Given the description of an element on the screen output the (x, y) to click on. 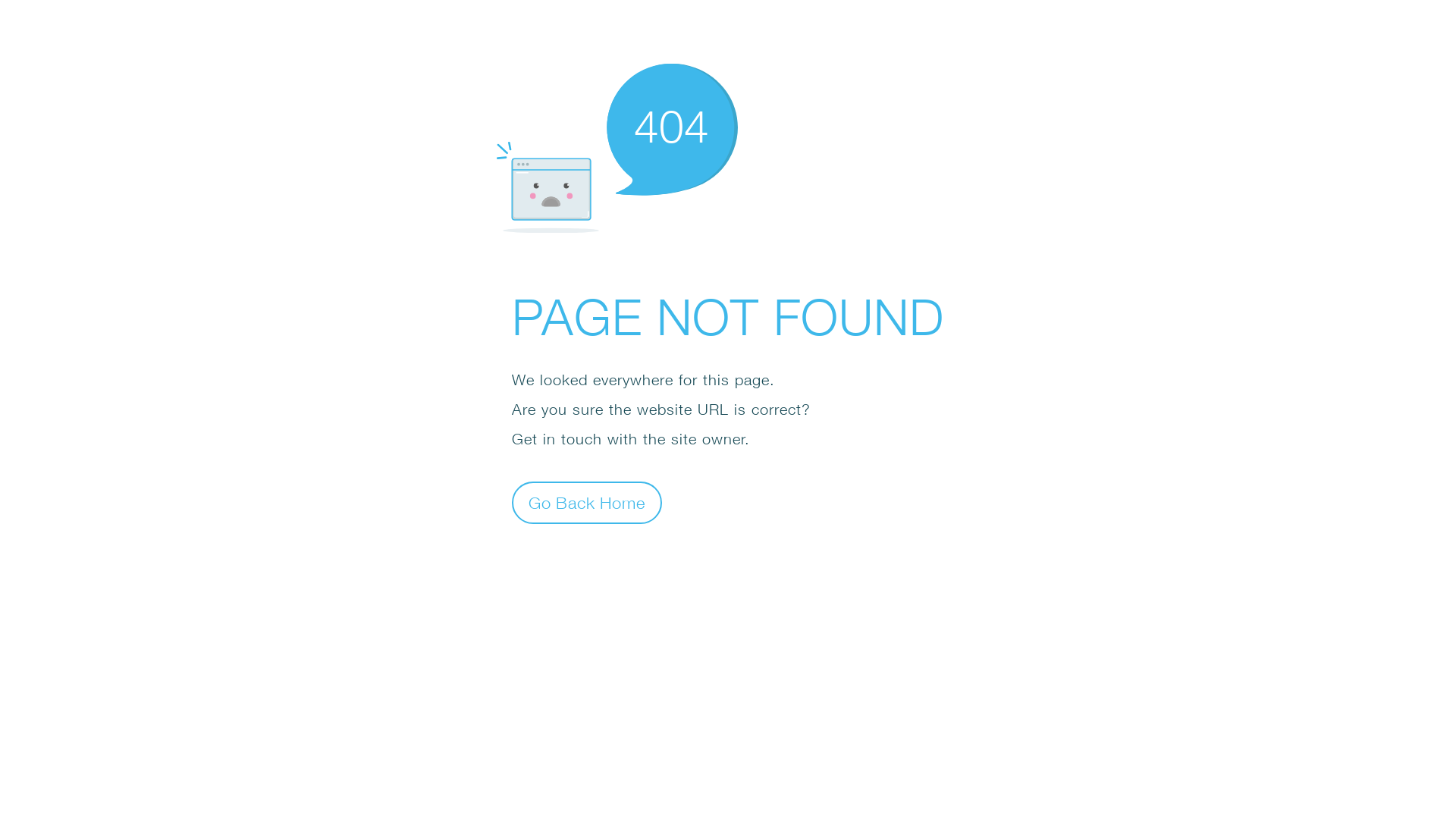
Go Back Home Element type: text (586, 502)
